Given the description of an element on the screen output the (x, y) to click on. 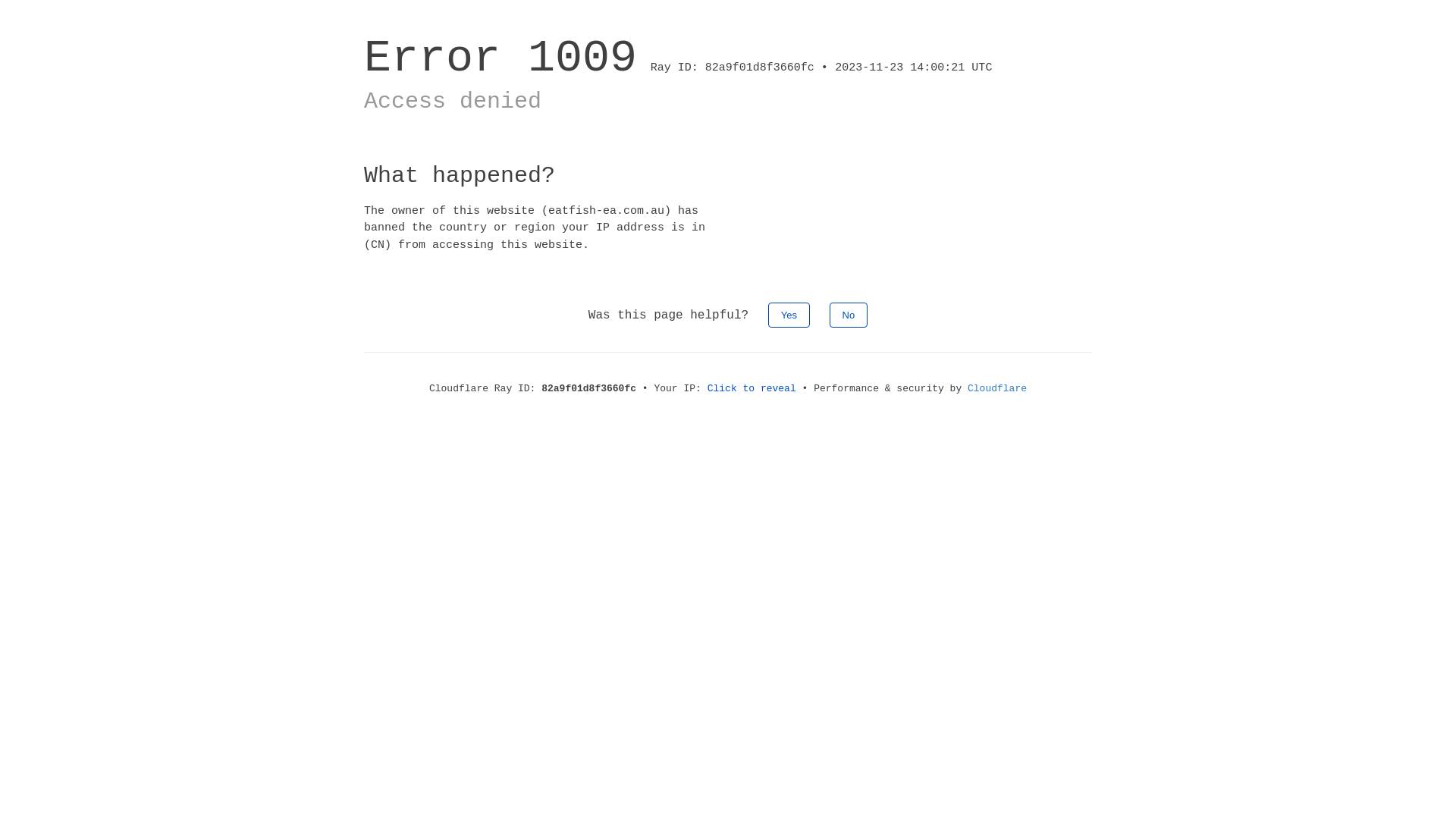
Yes Element type: text (788, 314)
Cloudflare Element type: text (996, 388)
Click to reveal Element type: text (751, 388)
No Element type: text (848, 314)
